Given the description of an element on the screen output the (x, y) to click on. 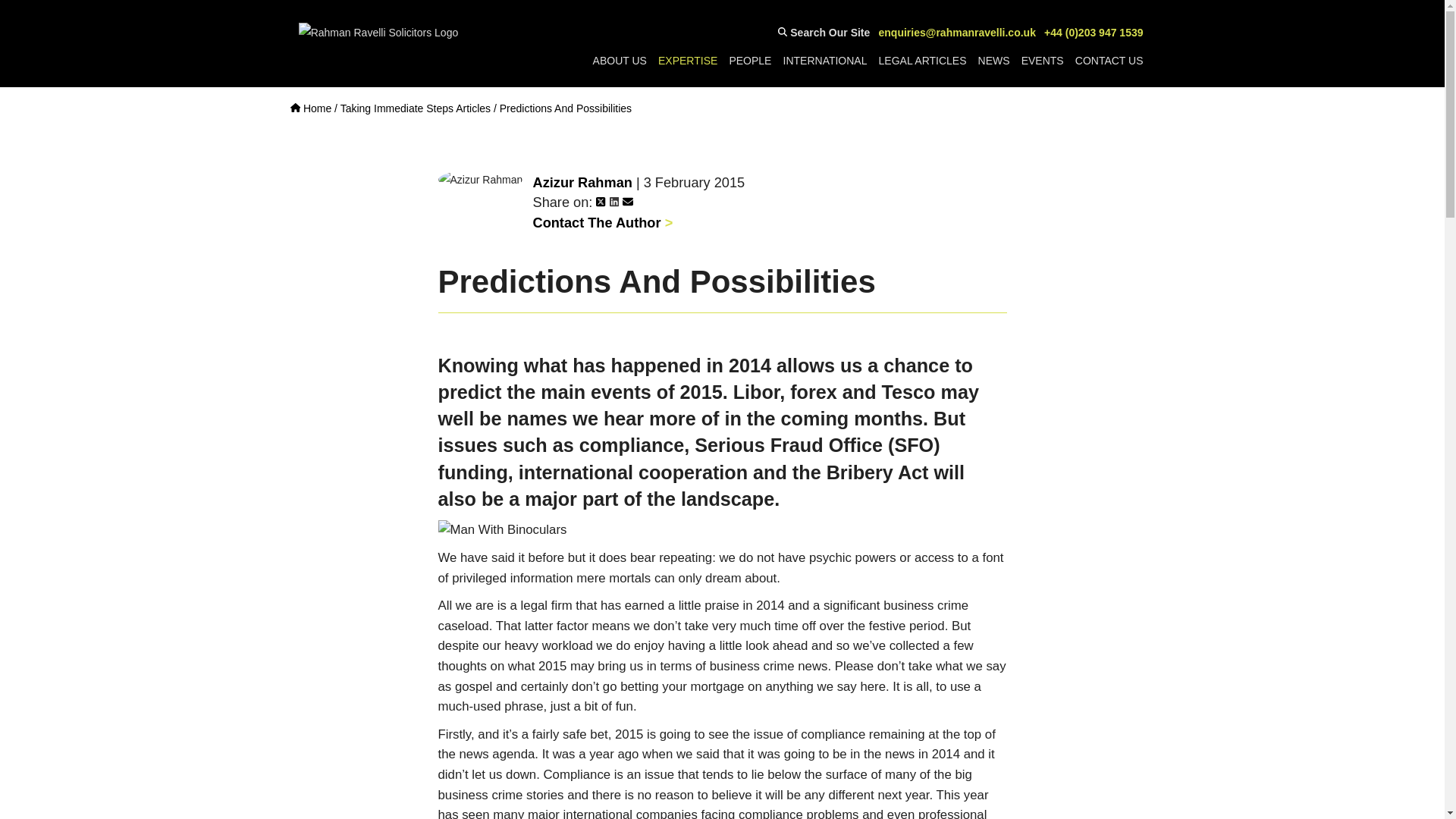
View Azizur Rahman's Profile (581, 182)
Link to search our site (823, 32)
Rahman Ravelli Solicitors Homepage (310, 108)
Link to author bio (602, 222)
Predictions And Possibilities December 2014 (502, 530)
